Given the description of an element on the screen output the (x, y) to click on. 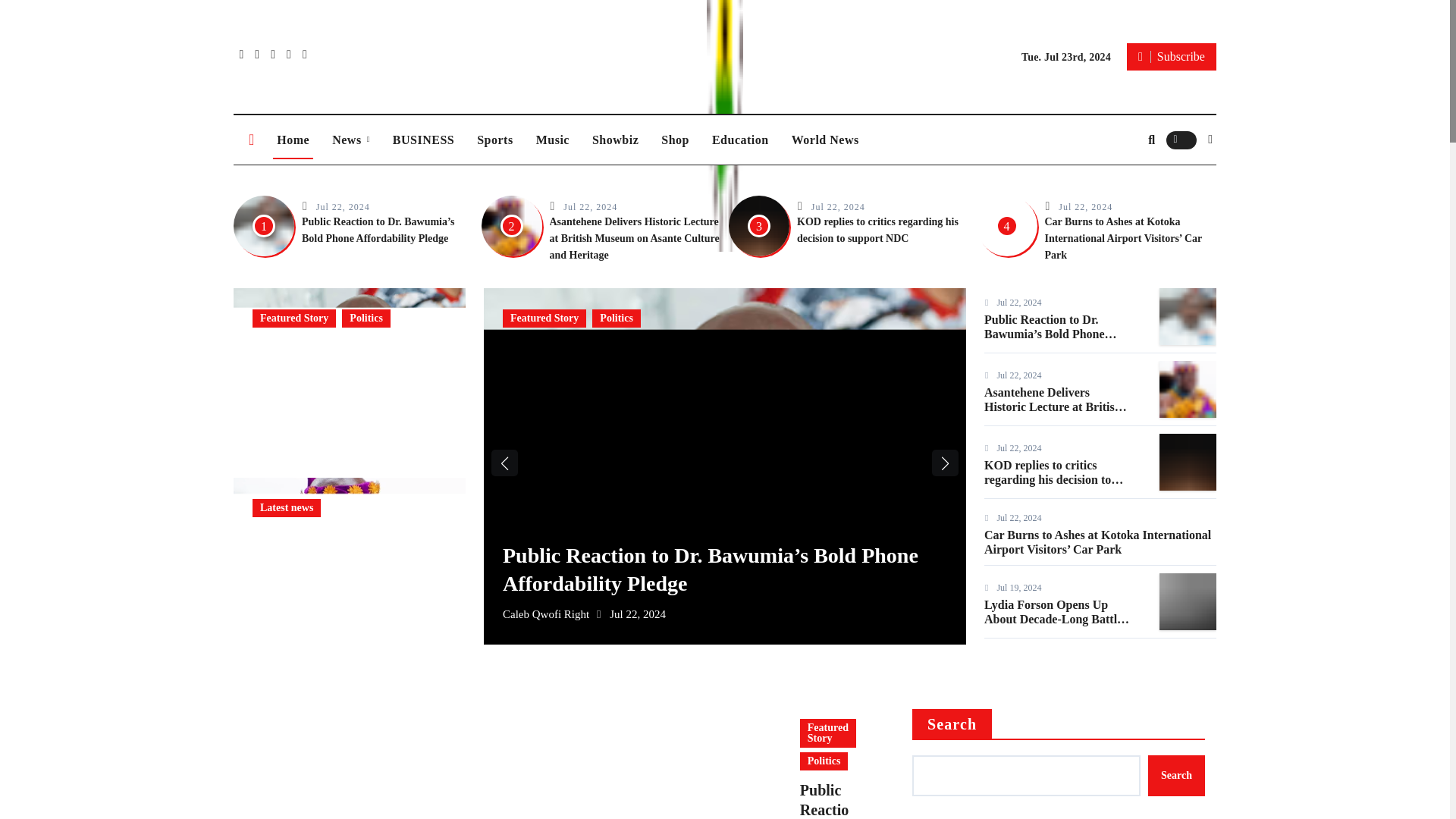
Home (292, 139)
Shop (674, 139)
News (350, 139)
Showbiz (614, 139)
Subscribe (1170, 56)
Sports (494, 139)
Education (740, 139)
Jul 22, 2024 (837, 206)
Education (740, 139)
World News (825, 139)
